Given the description of an element on the screen output the (x, y) to click on. 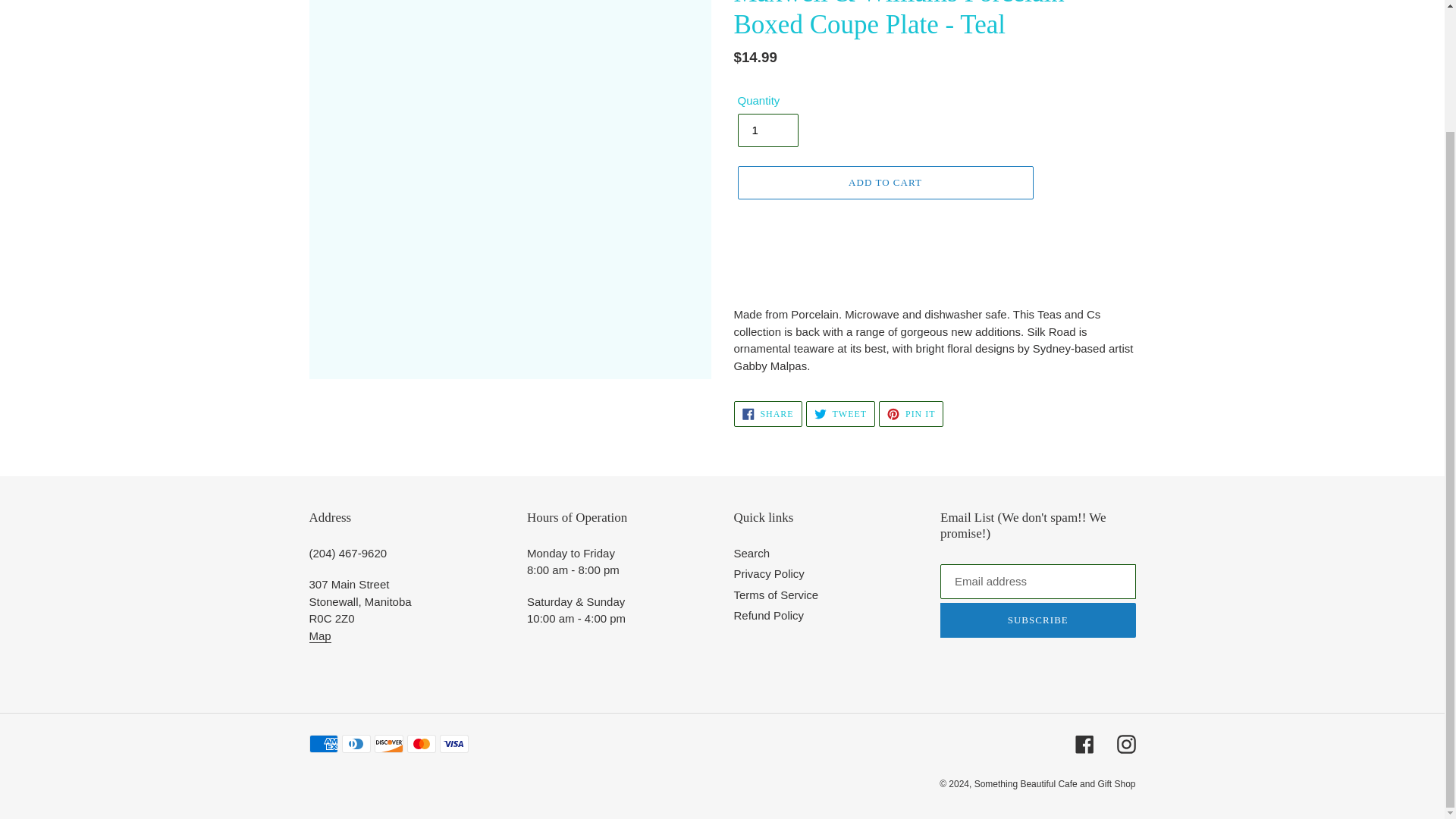
1 (766, 130)
